Given the description of an element on the screen output the (x, y) to click on. 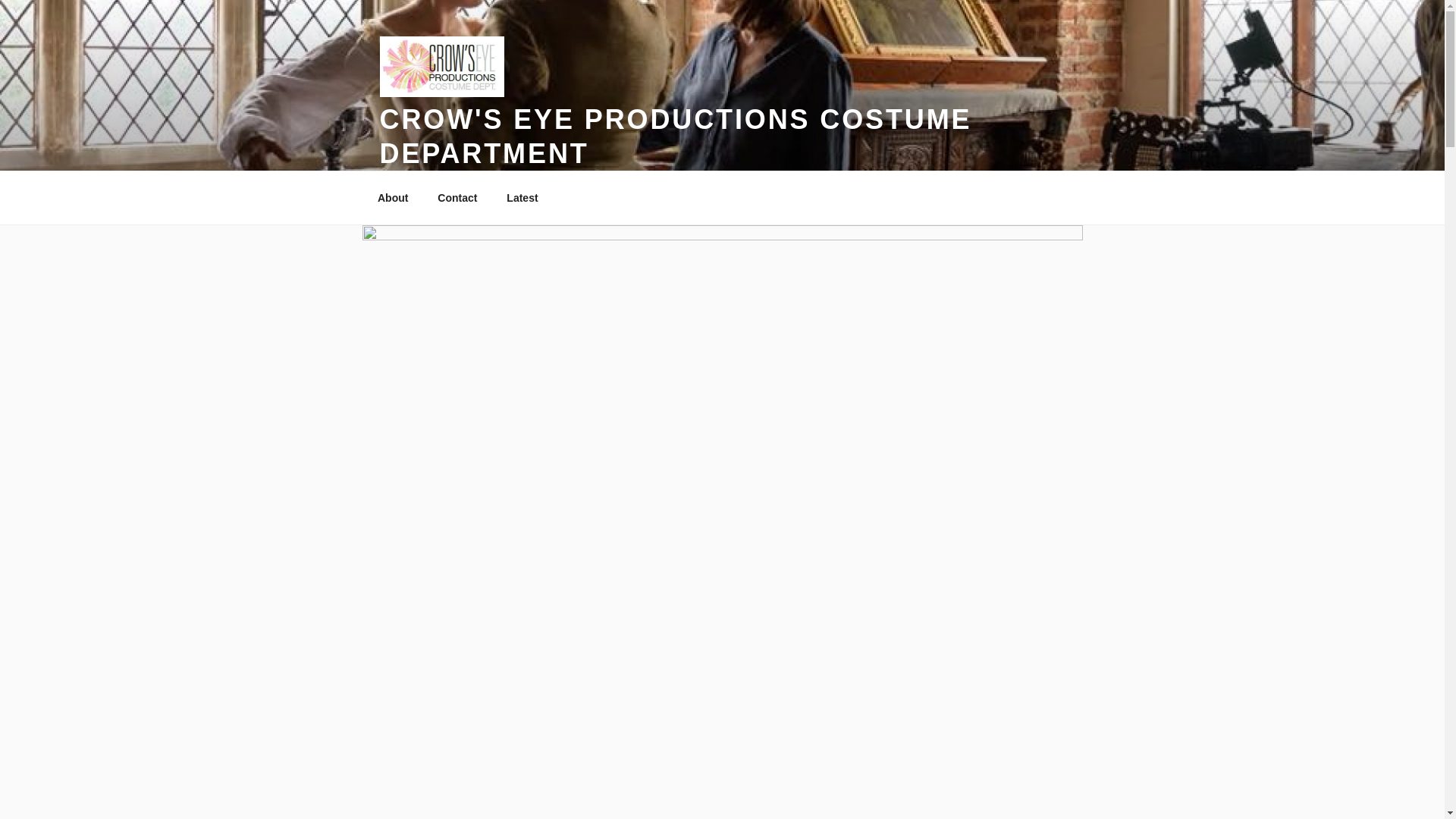
Contact (457, 197)
About (392, 197)
CROW'S EYE PRODUCTIONS COSTUME DEPARTMENT (674, 136)
Latest (522, 197)
